Given the description of an element on the screen output the (x, y) to click on. 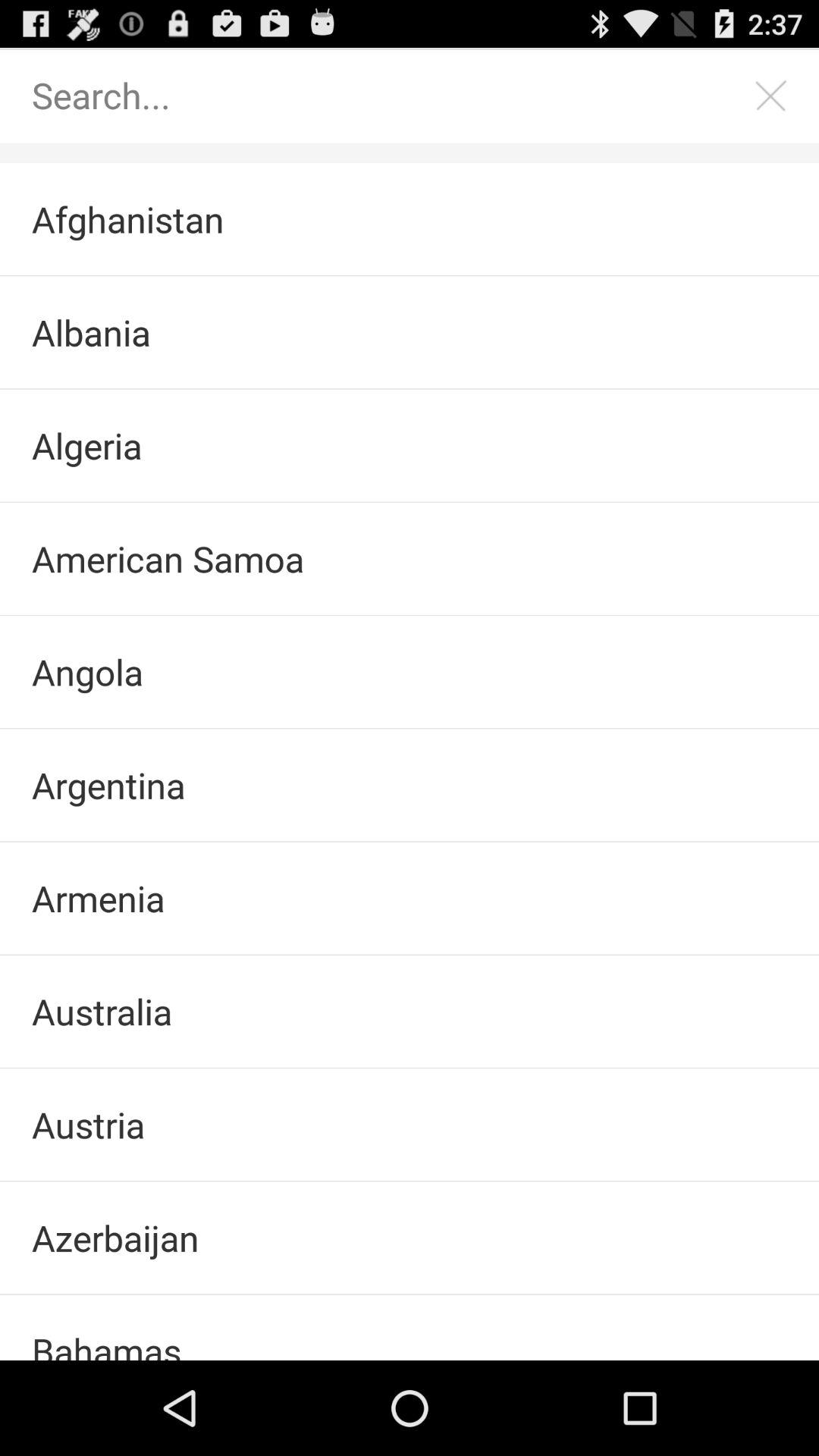
swipe until the azerbaijan (409, 1237)
